Given the description of an element on the screen output the (x, y) to click on. 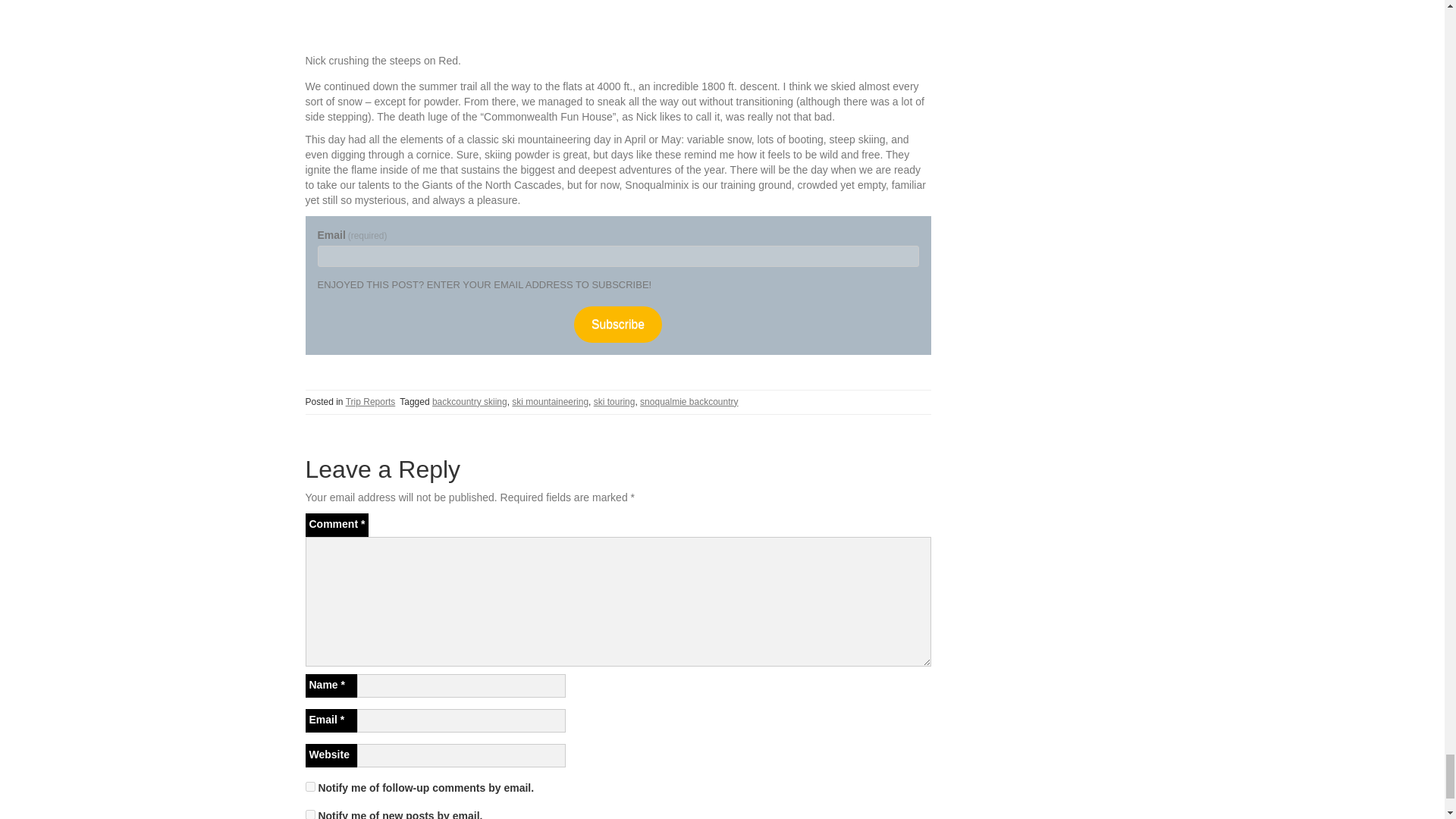
ski mountaineering (550, 401)
backcountry skiing (469, 401)
Trip Reports (371, 401)
snoqualmie backcountry (689, 401)
Subscribe (617, 324)
ski touring (614, 401)
subscribe (309, 786)
subscribe (309, 814)
